Given the description of an element on the screen output the (x, y) to click on. 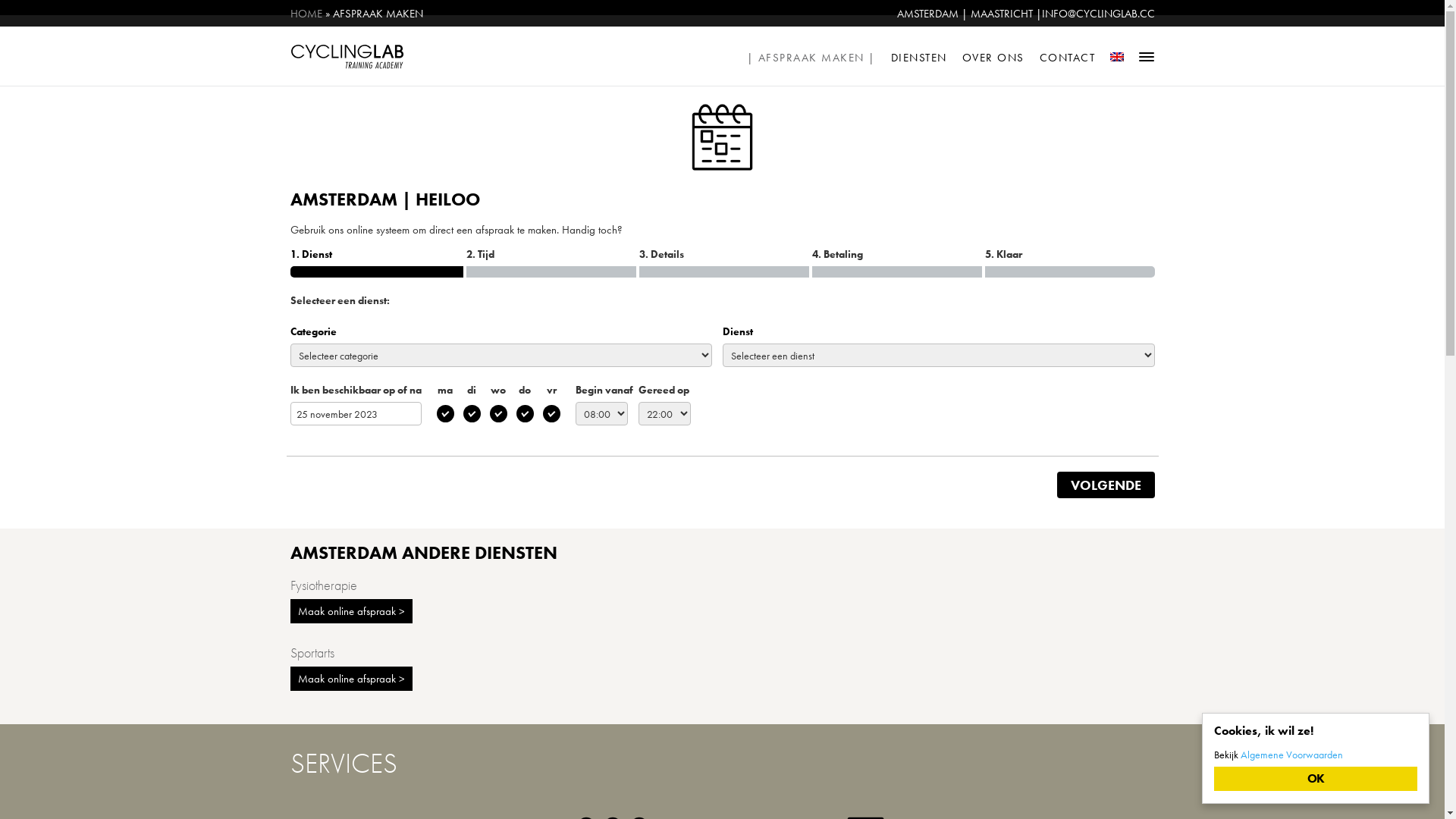
DIENSTEN Element type: text (919, 55)
Maak online afspraak > Element type: text (350, 678)
OK Element type: text (1315, 778)
HOME Element type: text (305, 13)
AMSTERDAM | MAASTRICHT | Element type: text (968, 13)
CONTACT Element type: text (1067, 55)
Algemene Voorwaarden Element type: text (1291, 754)
VOLGENDE Element type: text (1105, 484)
OVER ONS Element type: text (993, 55)
INFO@CYCLINGLAB.CC Element type: text (1097, 13)
| AFSPRAAK MAKEN | Element type: text (810, 55)
Maak online afspraak > Element type: text (350, 611)
